Given the description of an element on the screen output the (x, y) to click on. 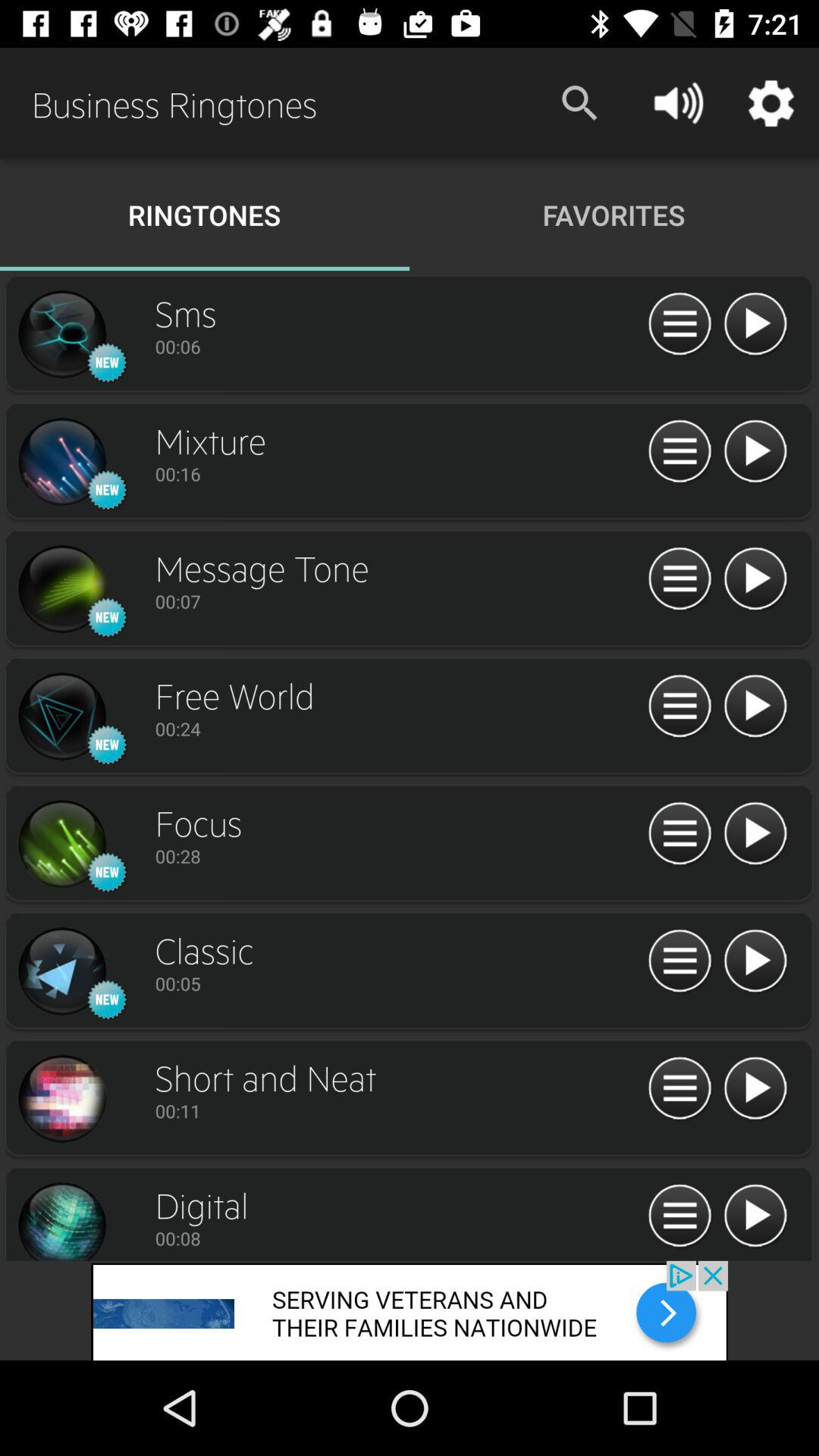
open list (679, 1216)
